Given the description of an element on the screen output the (x, y) to click on. 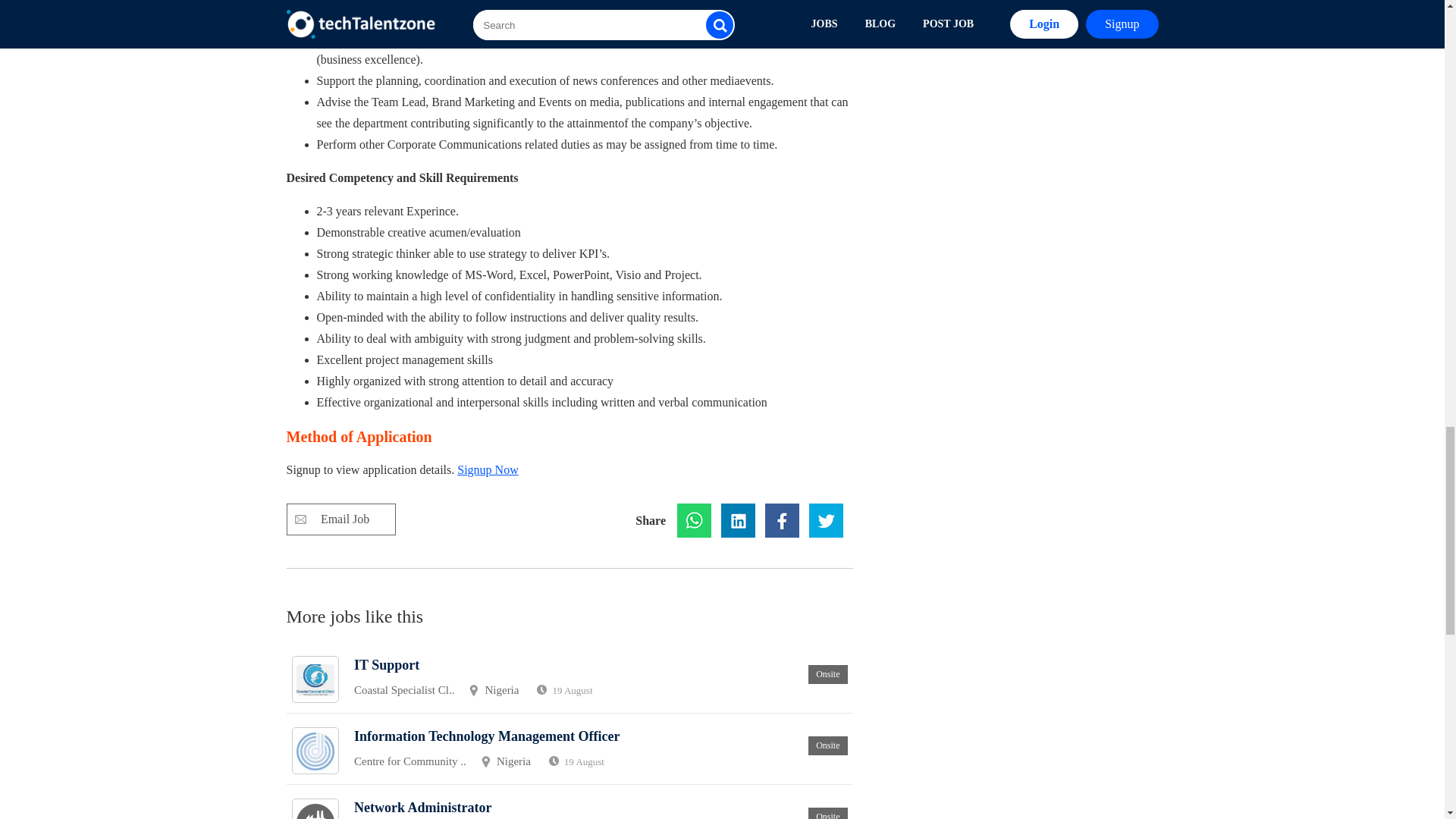
Email Job (341, 519)
Share this job on Whatsapp (694, 520)
Signup Now (487, 469)
IT Support (386, 664)
Information Technology Management Officer (486, 735)
Share this job on Linkedin (737, 520)
Centre for Community .. (409, 761)
Share this job on Twitter (826, 520)
Network Administrator (422, 807)
